Given the description of an element on the screen output the (x, y) to click on. 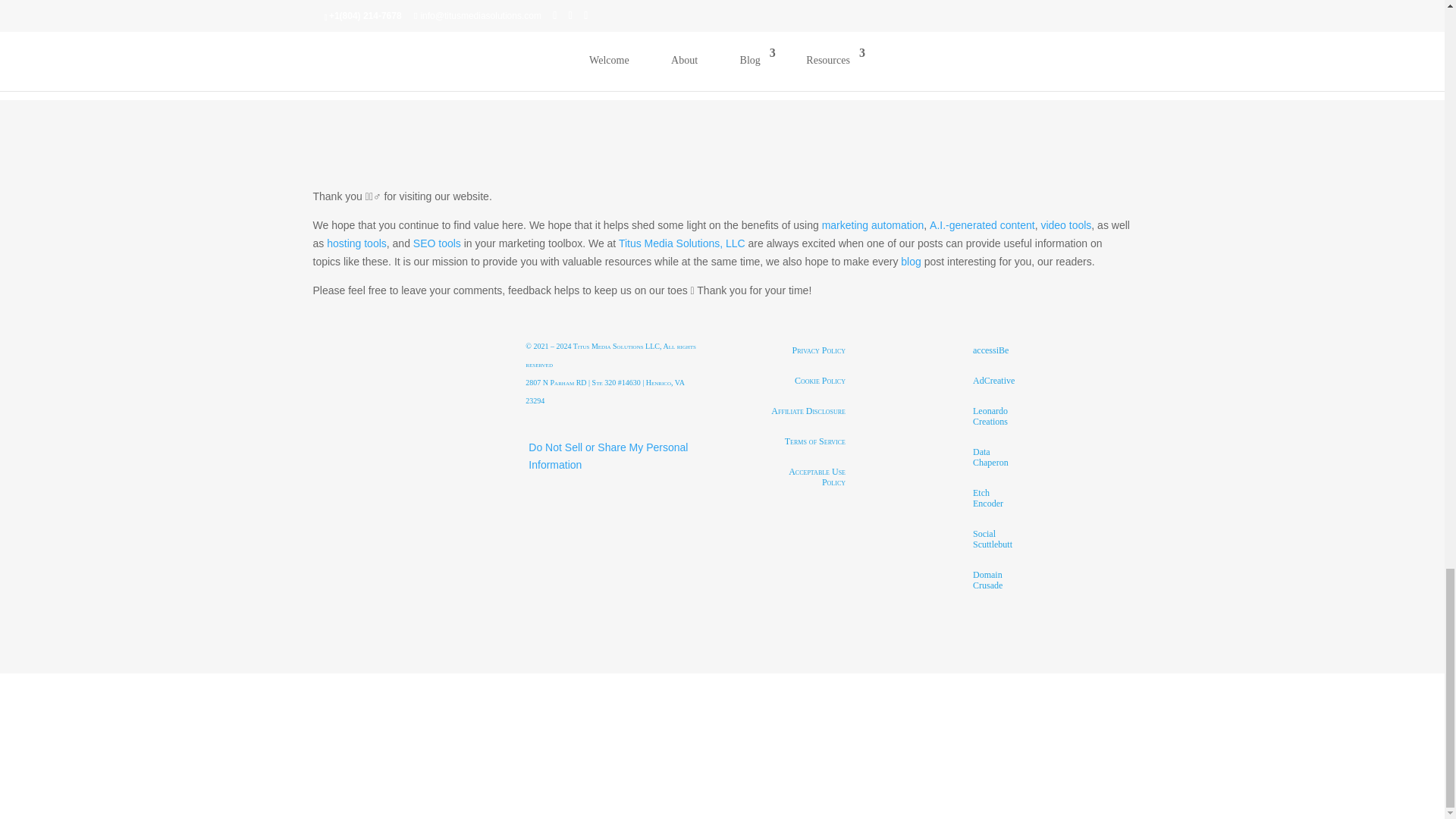
marketing automation (873, 224)
AdCreative (993, 379)
SEO tools (437, 243)
Cookie Policy (820, 379)
Affiliate Disclosure (808, 410)
hosting tools (356, 243)
Leonardo Creations (993, 415)
accessiBe.com (990, 349)
blog (910, 261)
Upload and send files across the internet with ease (993, 456)
Terms of Service (815, 440)
A.I.-generated content (982, 224)
Acceptable Use Policy (807, 475)
accessiBe (990, 349)
Cookie Policy (820, 379)
